Given the description of an element on the screen output the (x, y) to click on. 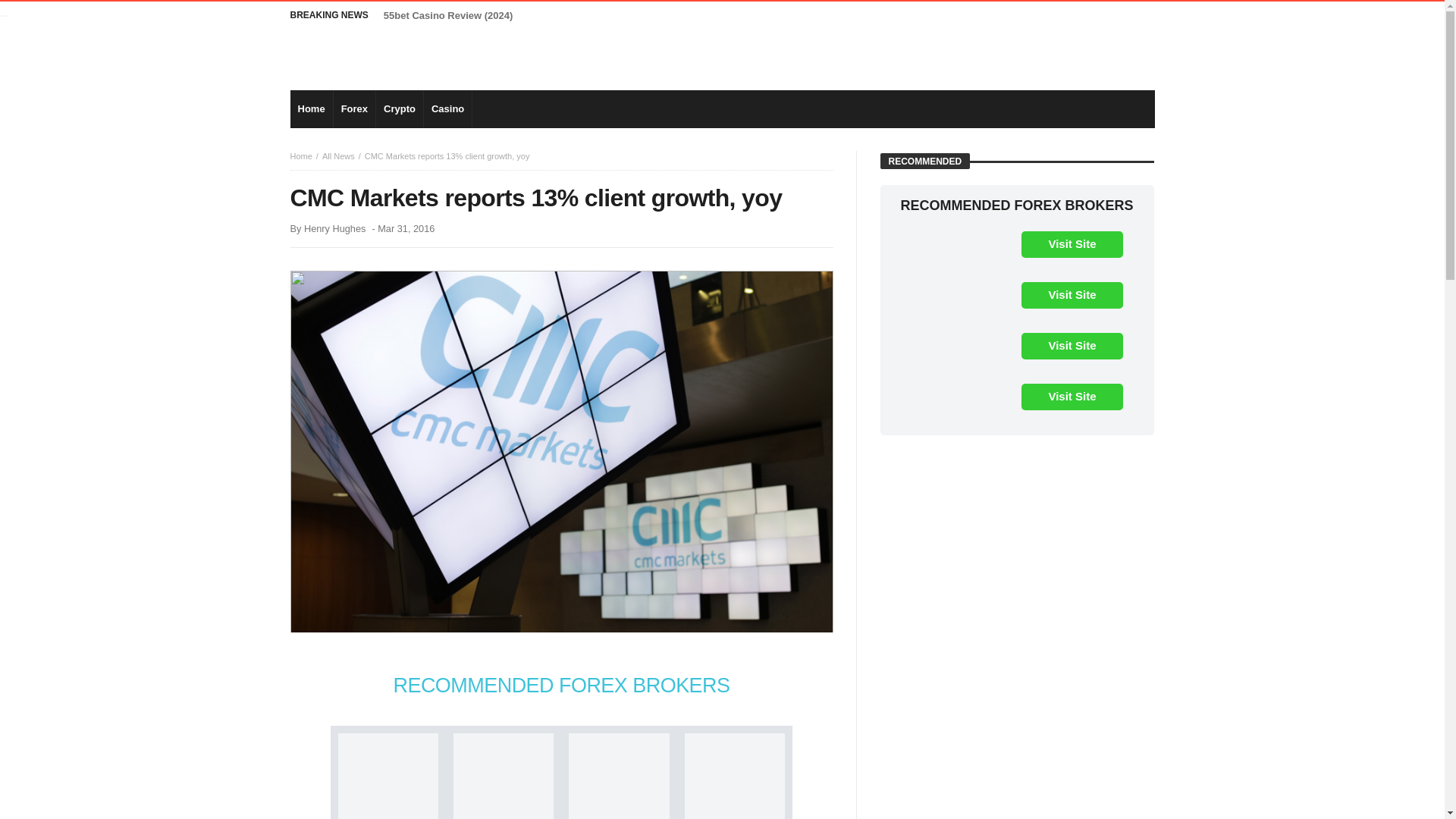
Forex (354, 108)
Casino (447, 108)
Crypto (399, 108)
Home (300, 155)
All News (338, 155)
Home (311, 108)
